Given the description of an element on the screen output the (x, y) to click on. 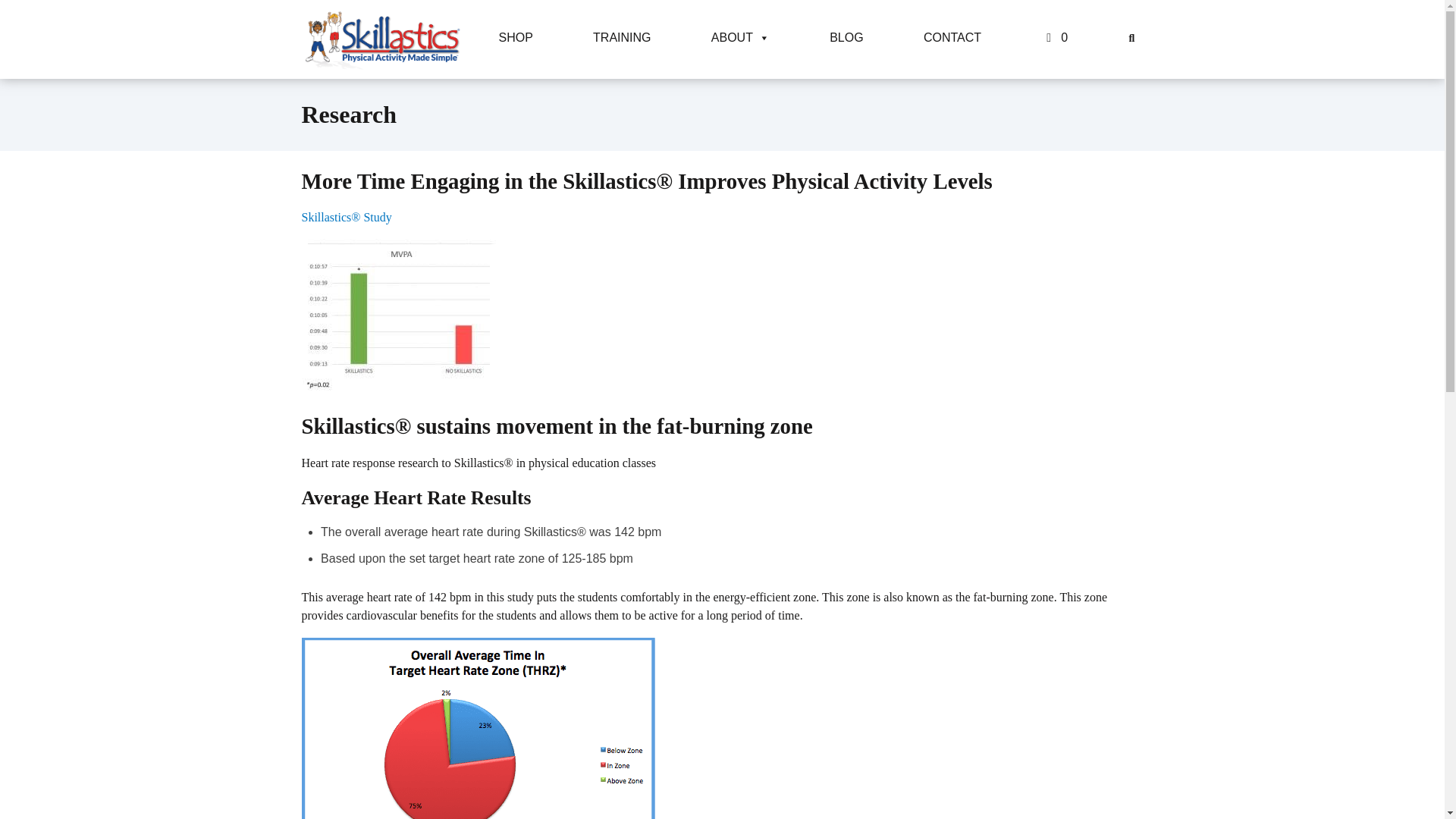
TRAINING (621, 37)
0 (1054, 37)
BLOG (846, 37)
ABOUT (740, 37)
SHOP (516, 37)
CONTACT (951, 37)
